Given the description of an element on the screen output the (x, y) to click on. 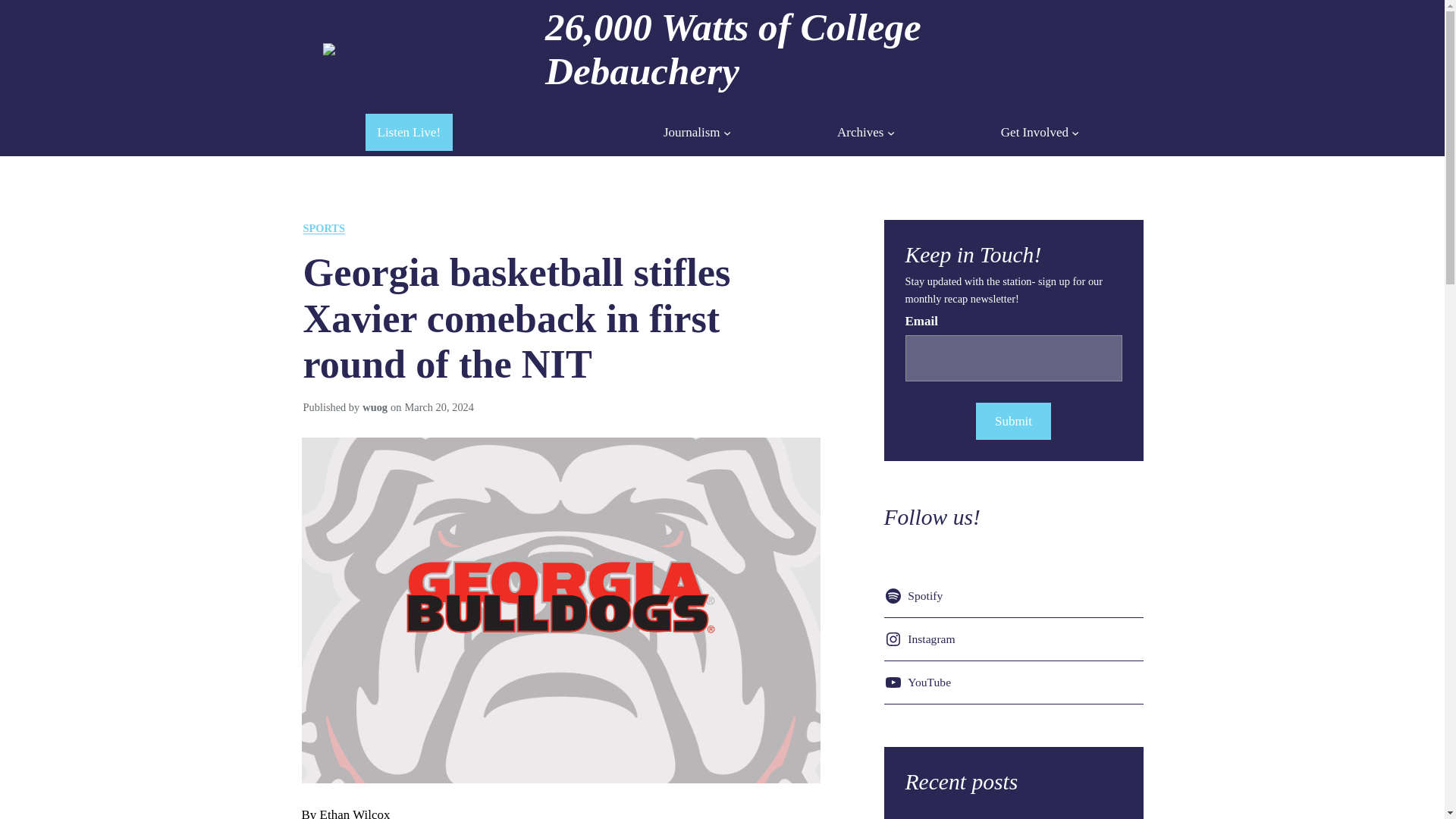
Spotify (916, 596)
Instagram (921, 638)
March 20, 2024 (439, 407)
YouTube (919, 682)
26,000 Watts of College Debauchery (732, 48)
Get Involved (1034, 132)
SPORTS (323, 227)
Journalism (691, 132)
Listen Live! (408, 131)
Submit (1012, 420)
Archives (860, 132)
